Given the description of an element on the screen output the (x, y) to click on. 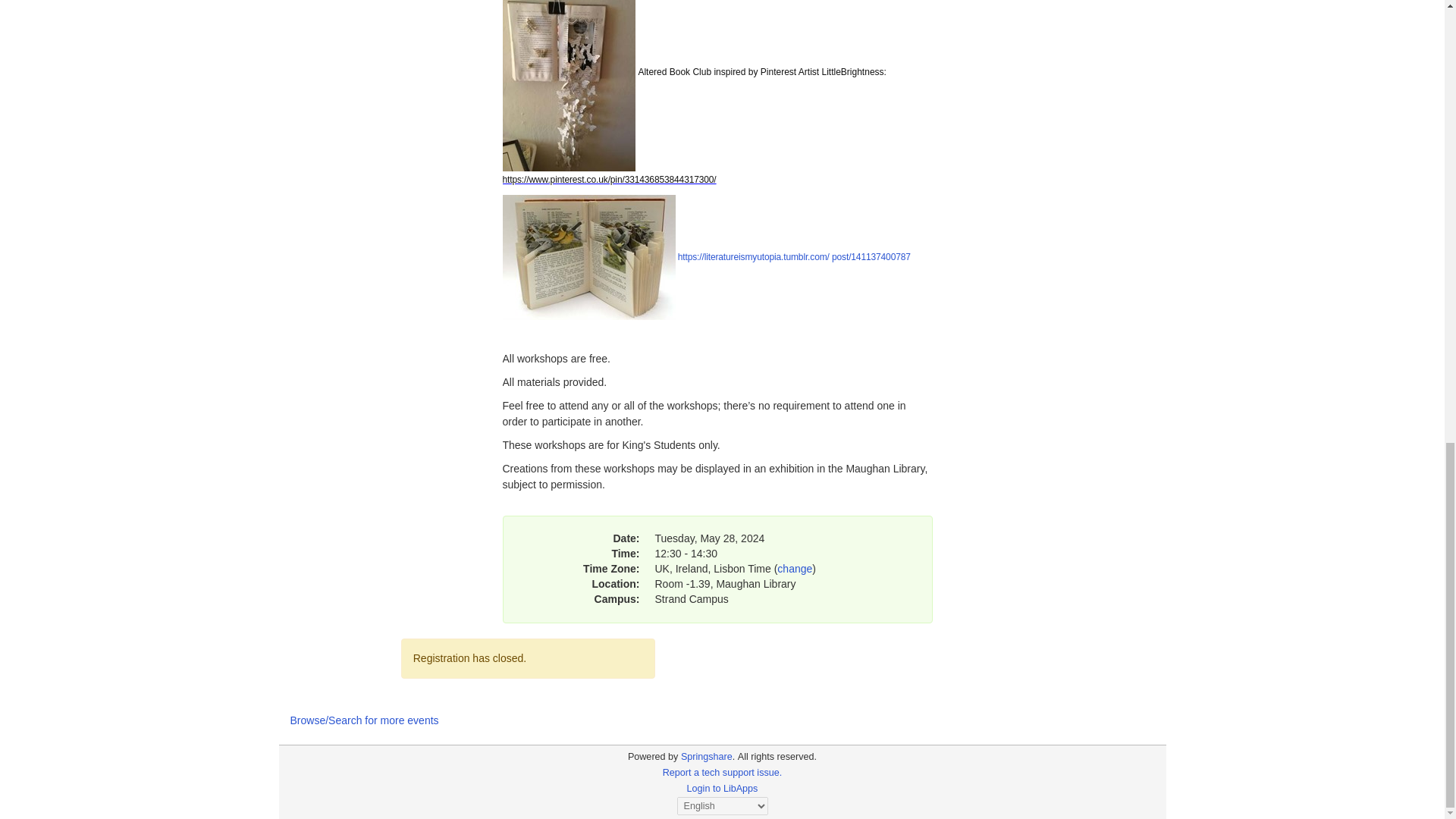
Report a tech support issue. (722, 772)
Login to LibApps (722, 787)
Springshare (706, 756)
libcal-eu-2 (652, 756)
change (794, 568)
